Given the description of an element on the screen output the (x, y) to click on. 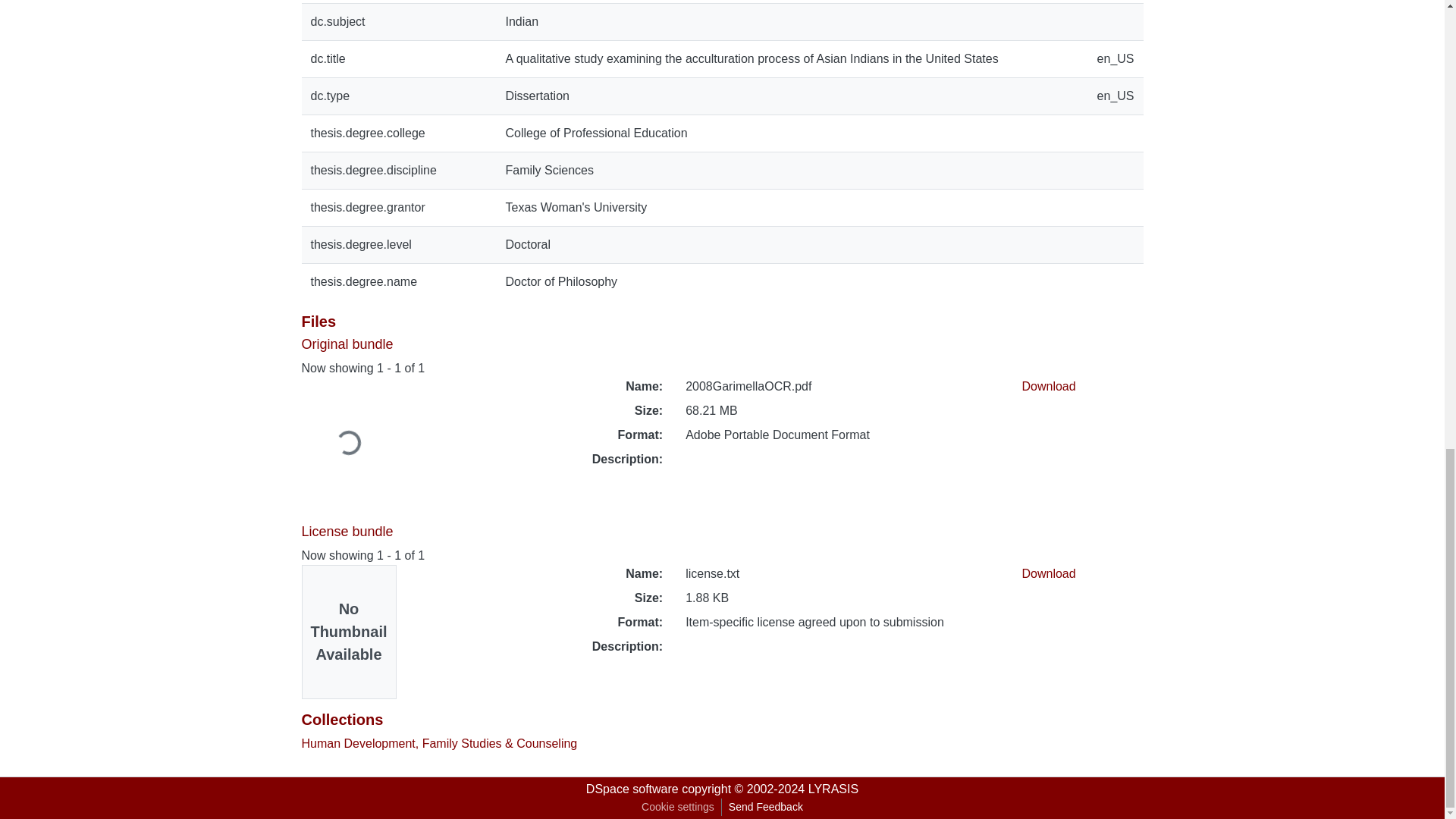
Download (1048, 386)
Download (1048, 573)
Send Feedback (765, 806)
Cookie settings (677, 806)
LYRASIS (833, 788)
DSpace software (632, 788)
